Given the description of an element on the screen output the (x, y) to click on. 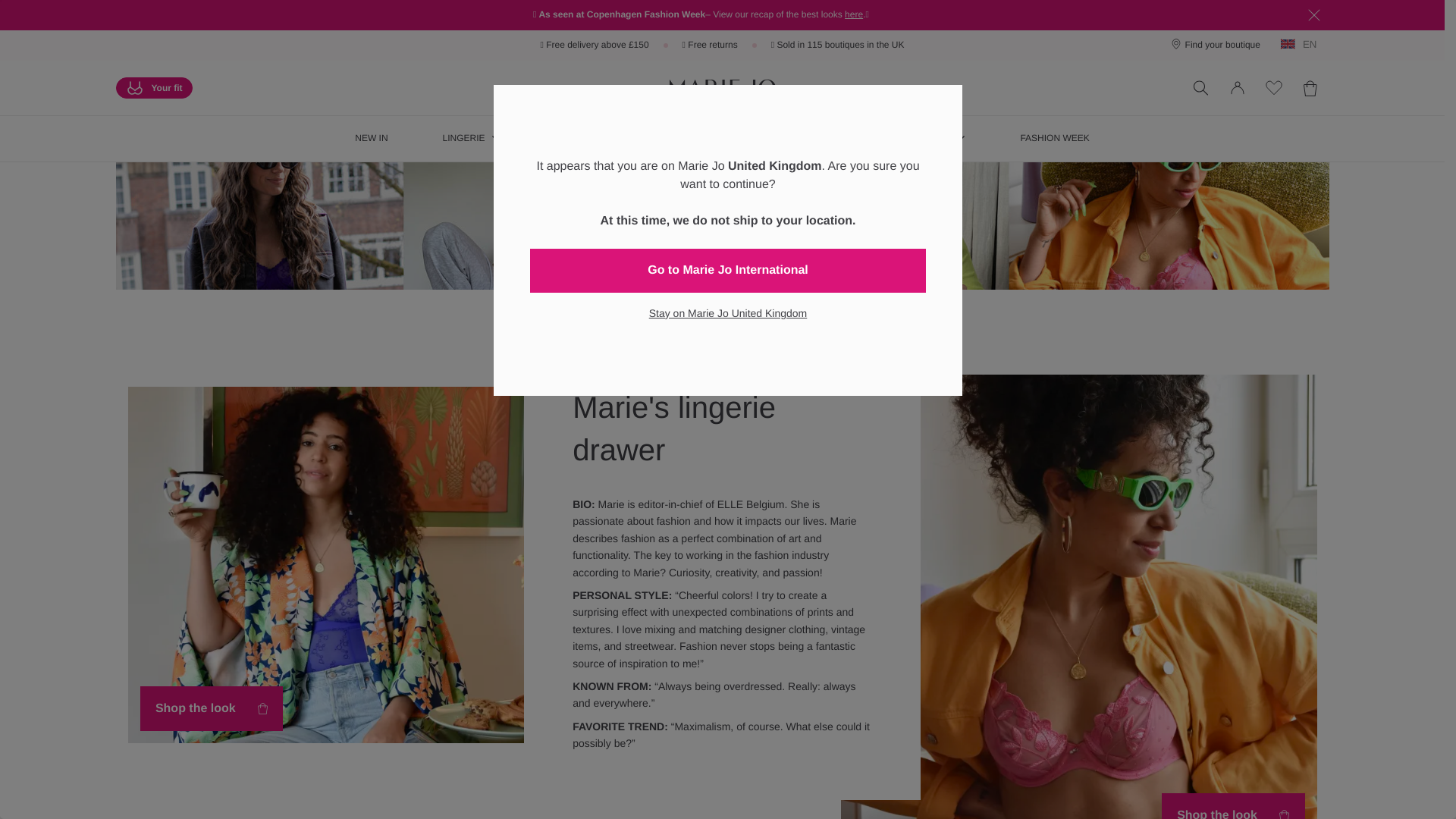
here (853, 14)
NEW IN (370, 138)
EN (1303, 44)
Find your boutique (1215, 44)
BRAS (575, 138)
Your fit (153, 87)
LINGERIE (470, 138)
